Given the description of an element on the screen output the (x, y) to click on. 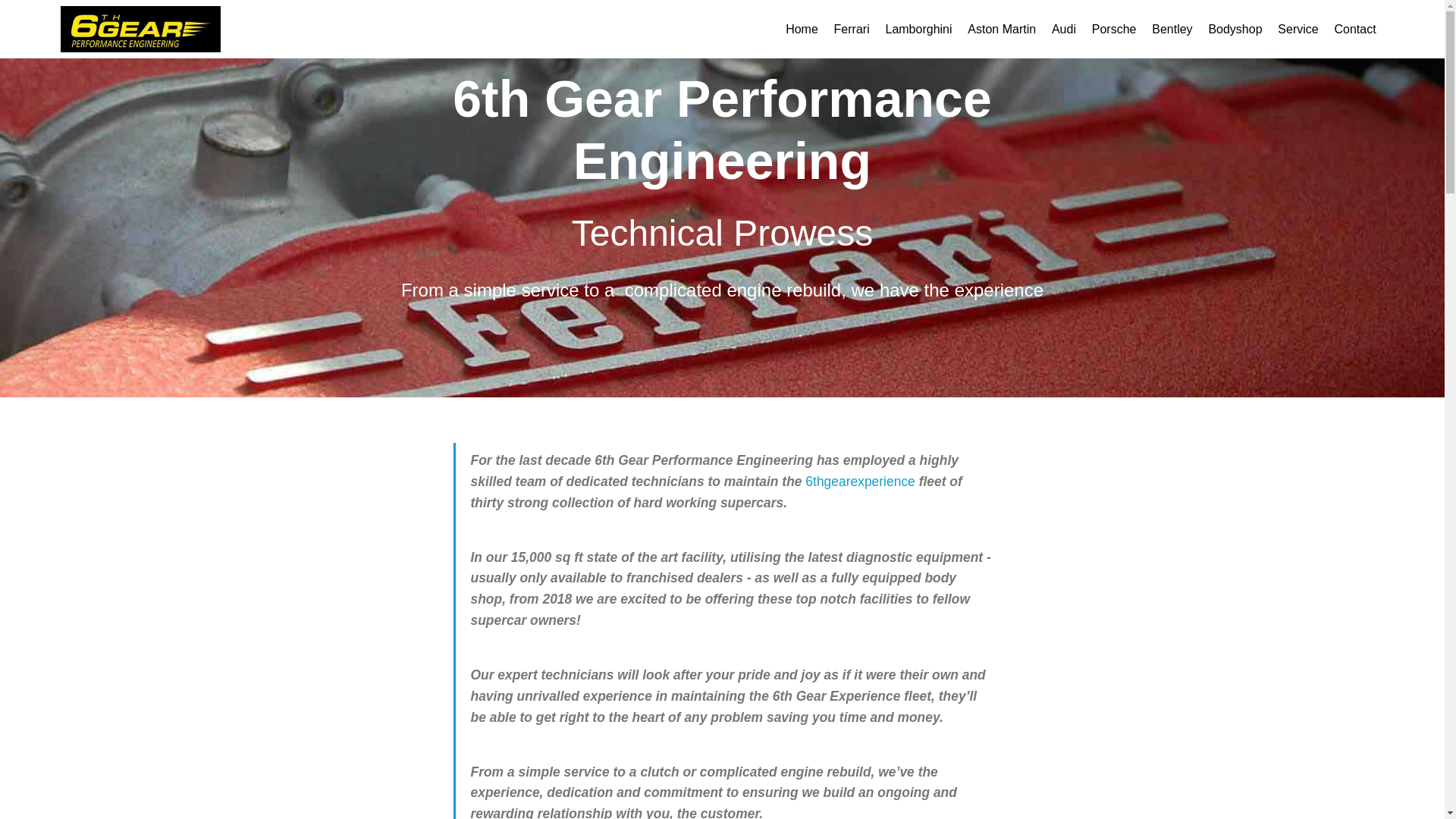
Lamborghini (918, 28)
Home (802, 28)
Porsche (1114, 28)
6thgearexperience (859, 481)
Bodyshop (1235, 28)
Bentley (1171, 28)
Service (1297, 28)
Ferrari (851, 28)
Aston Martin (1001, 28)
Contact (1354, 28)
